Given the description of an element on the screen output the (x, y) to click on. 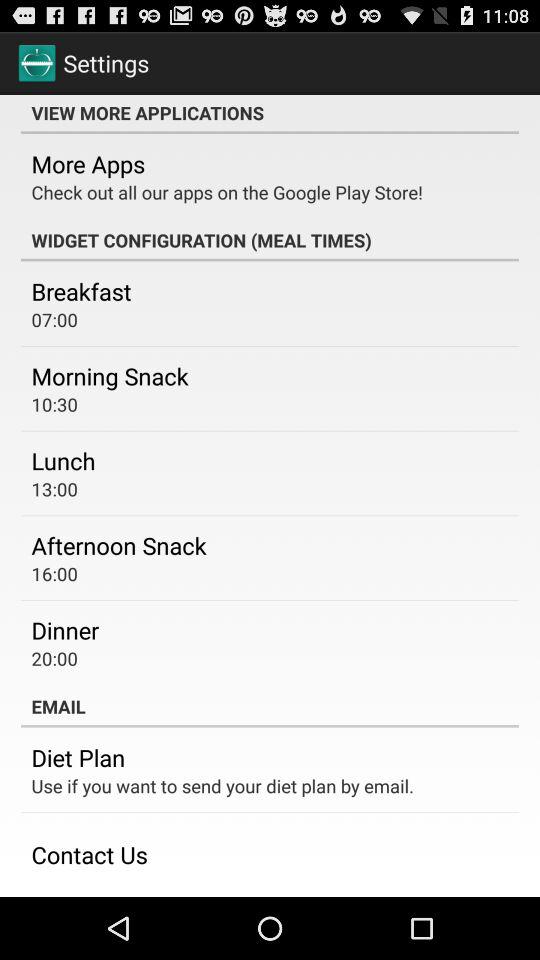
turn on the icon above the 20:00 item (65, 630)
